Given the description of an element on the screen output the (x, y) to click on. 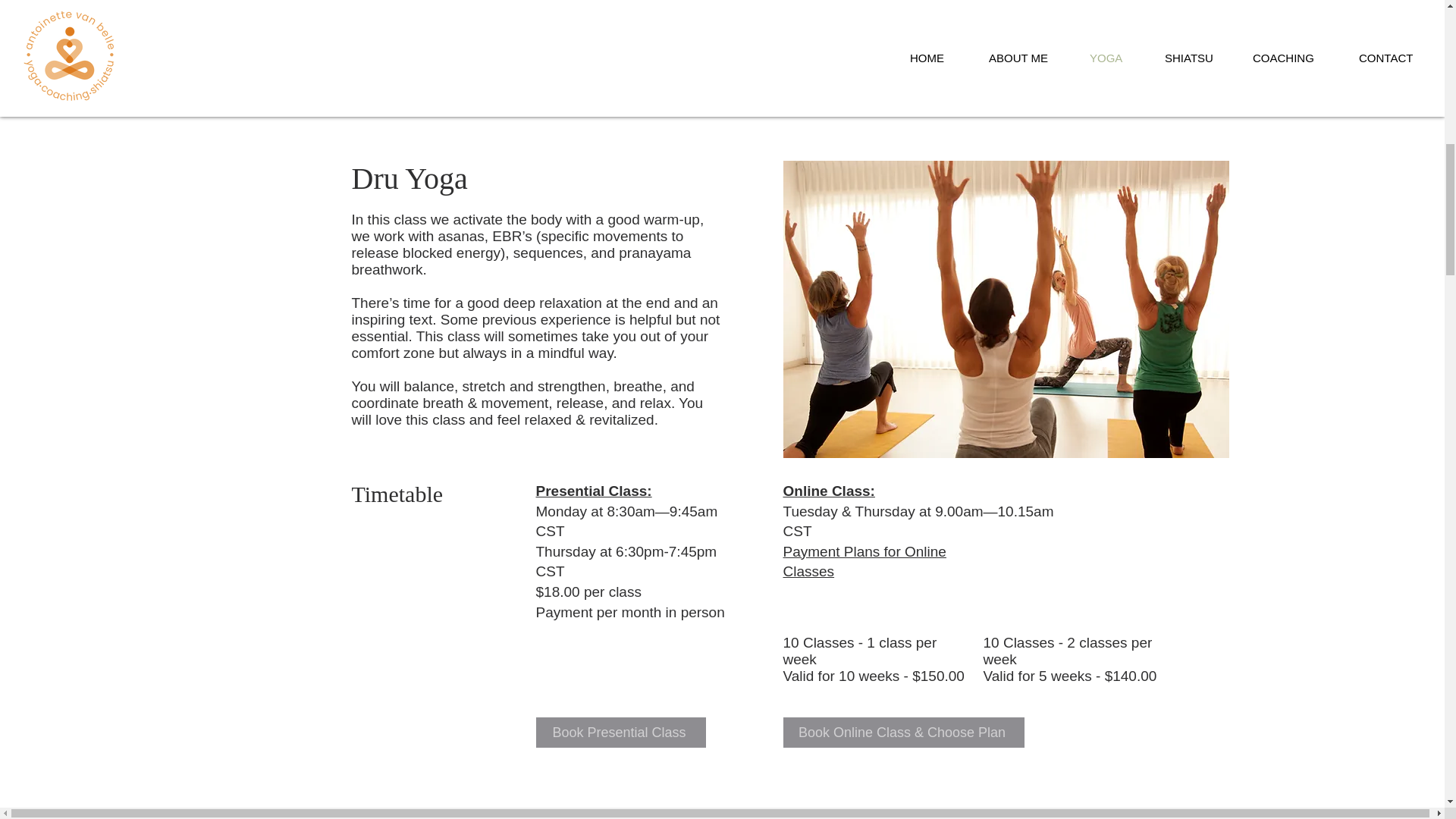
Book Presential Class (619, 732)
